Given the description of an element on the screen output the (x, y) to click on. 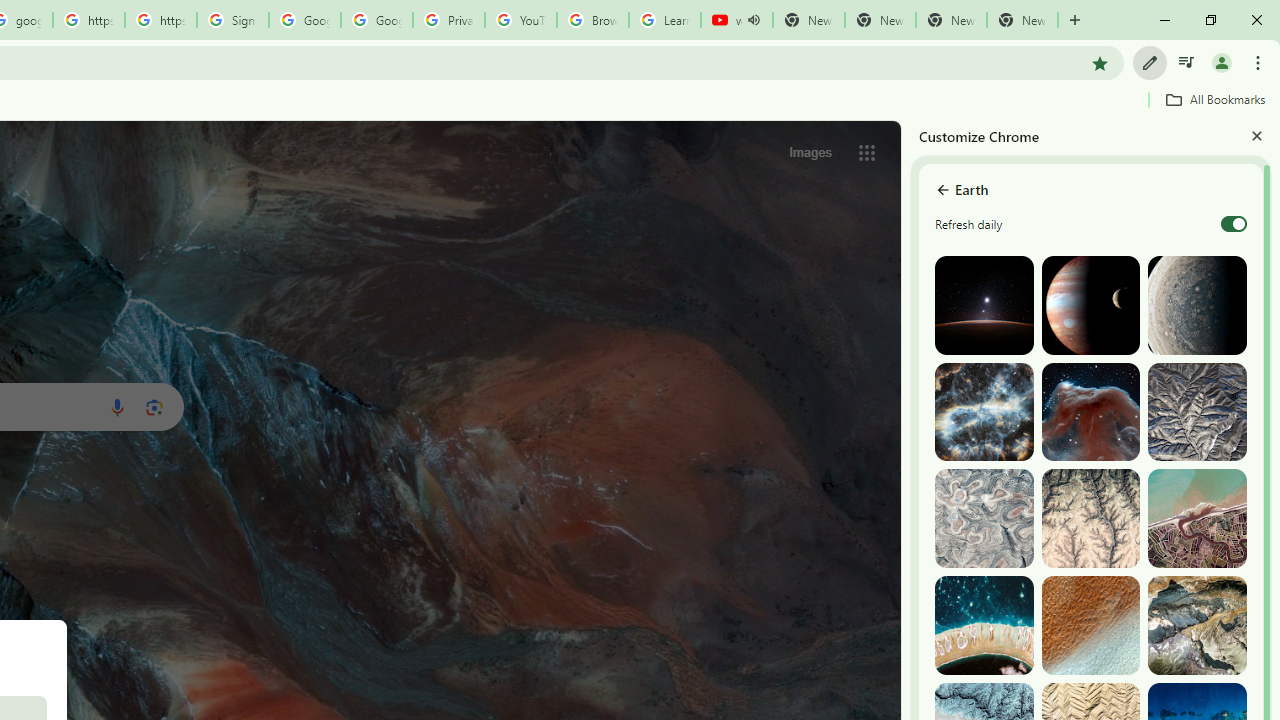
https://scholar.google.com/ (88, 20)
Nanggroe Aceh Darussalam, Indonesia (1197, 518)
Control your music, videos, and more (1185, 62)
Sanaag, Somalia (1090, 518)
The Tuamotu and Gambier Islands, French Polynesia (984, 625)
Kelan, Shanxi, China (1197, 412)
https://scholar.google.com/ (161, 20)
